Given the description of an element on the screen output the (x, y) to click on. 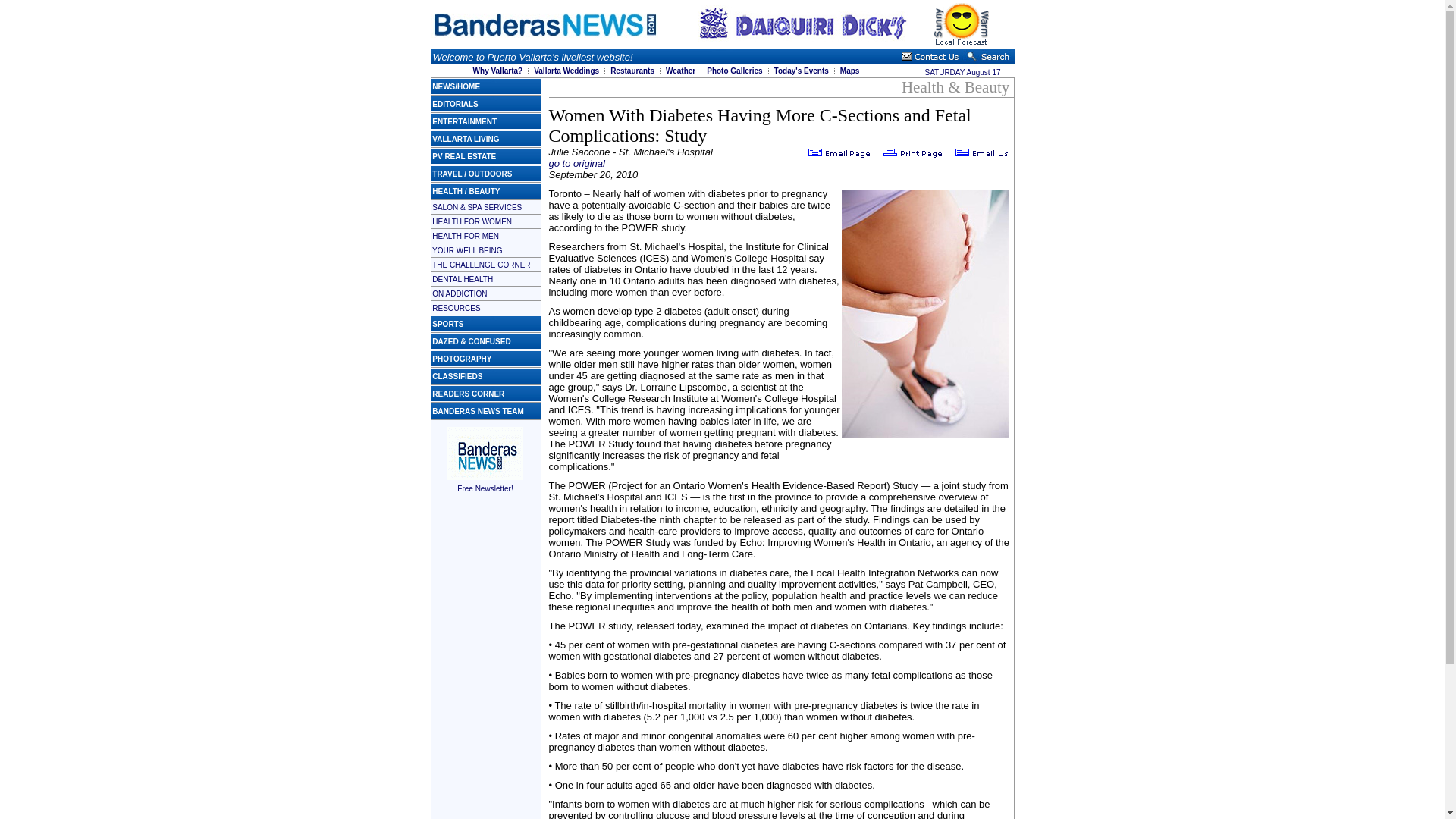
YOUR WELL BEING (467, 249)
DENTAL HEALTH (462, 278)
Free Newsletter! (484, 483)
READERS CORNER (467, 393)
THE CHALLENGE CORNER (480, 265)
VALLARTA LIVING (465, 139)
Vallarta Weddings (566, 70)
Why Vallarta? (497, 70)
Photo Galleries (733, 70)
PHOTOGRAPHY (462, 358)
